Given the description of an element on the screen output the (x, y) to click on. 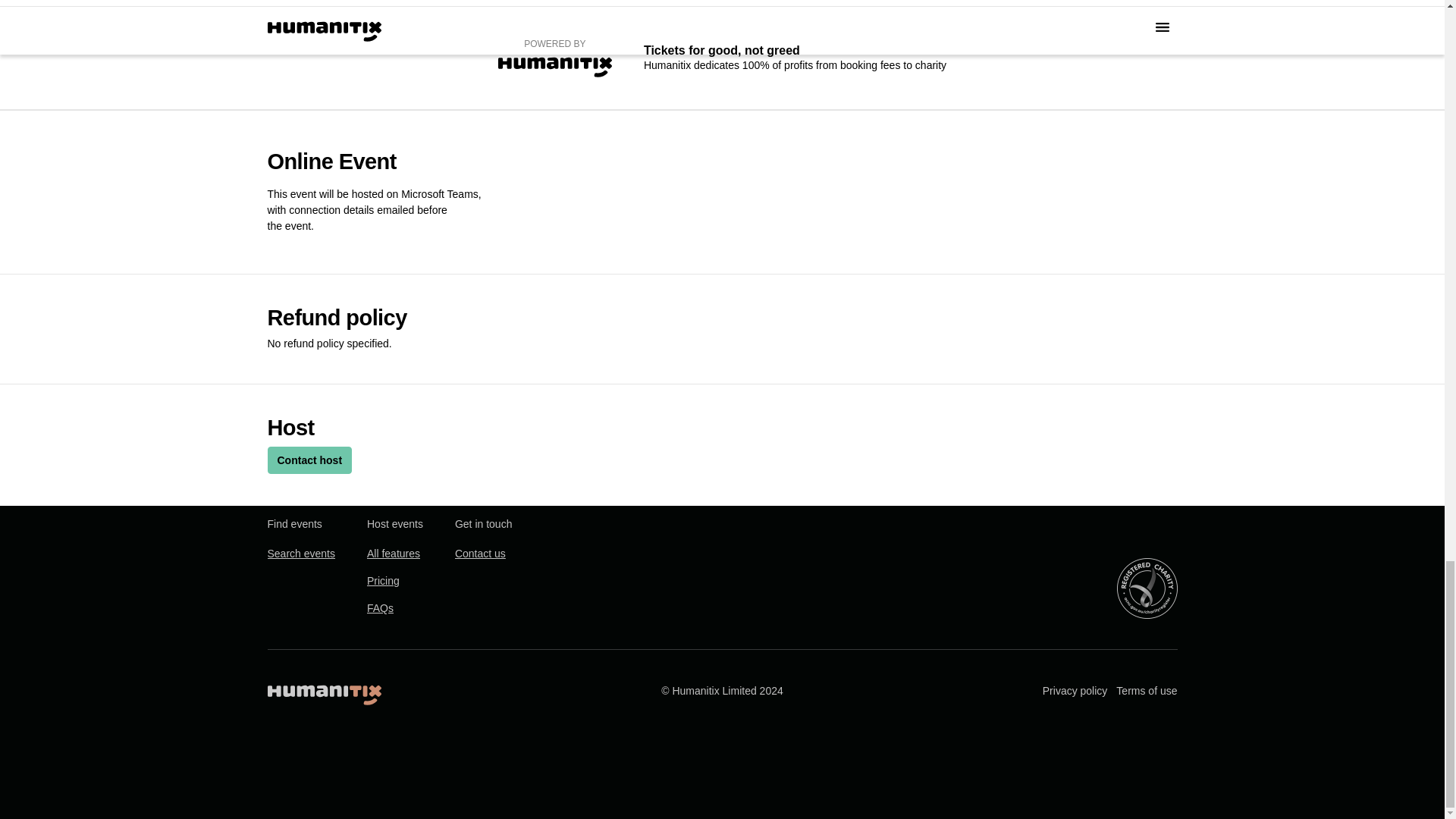
Search events (300, 553)
Pricing (382, 580)
FAQs (379, 607)
Contact host (309, 460)
All features (393, 553)
Contact us (479, 553)
Terms of use (1146, 690)
Privacy policy (1075, 690)
